Given the description of an element on the screen output the (x, y) to click on. 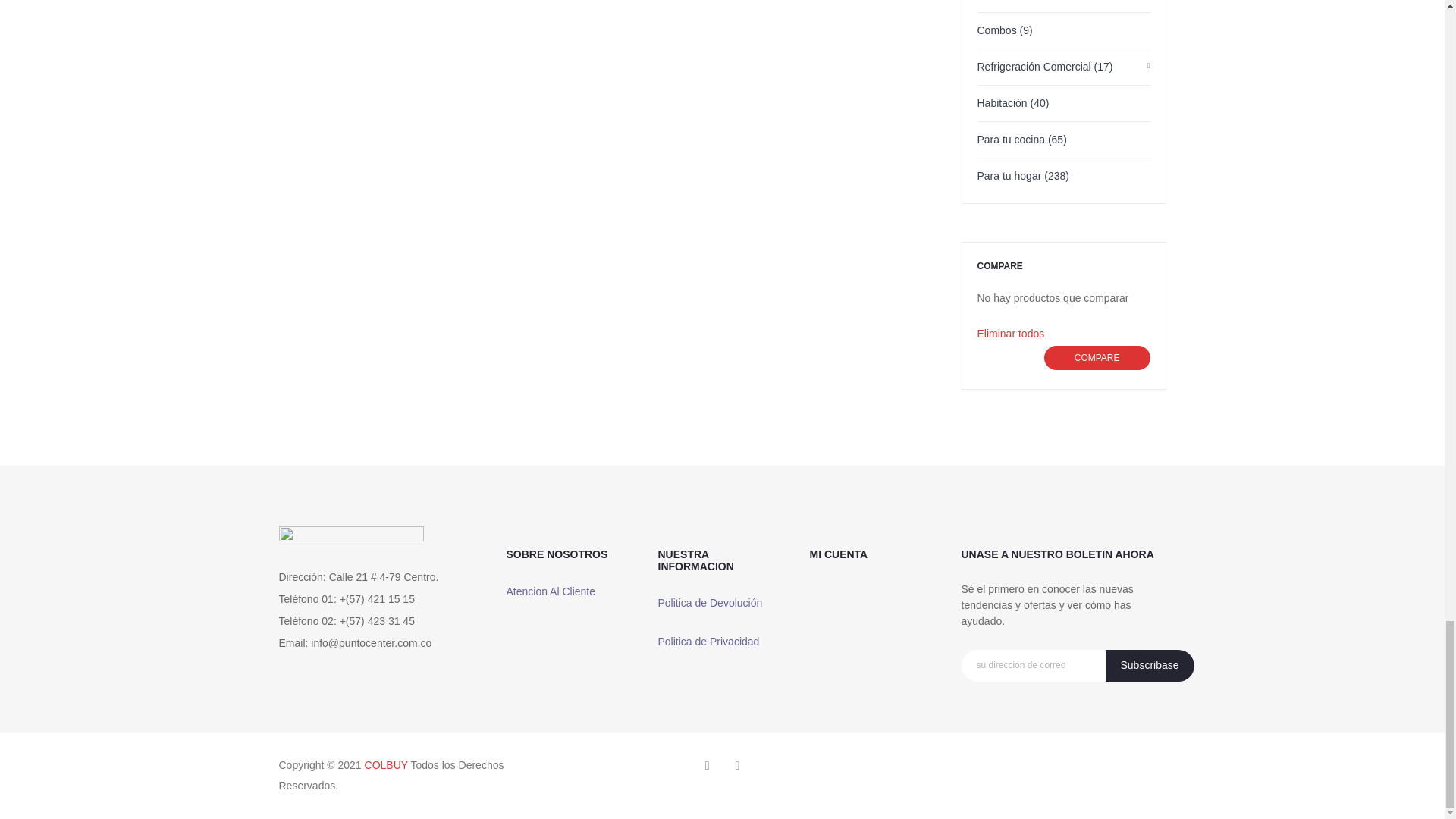
Subscribase (1149, 665)
